Given the description of an element on the screen output the (x, y) to click on. 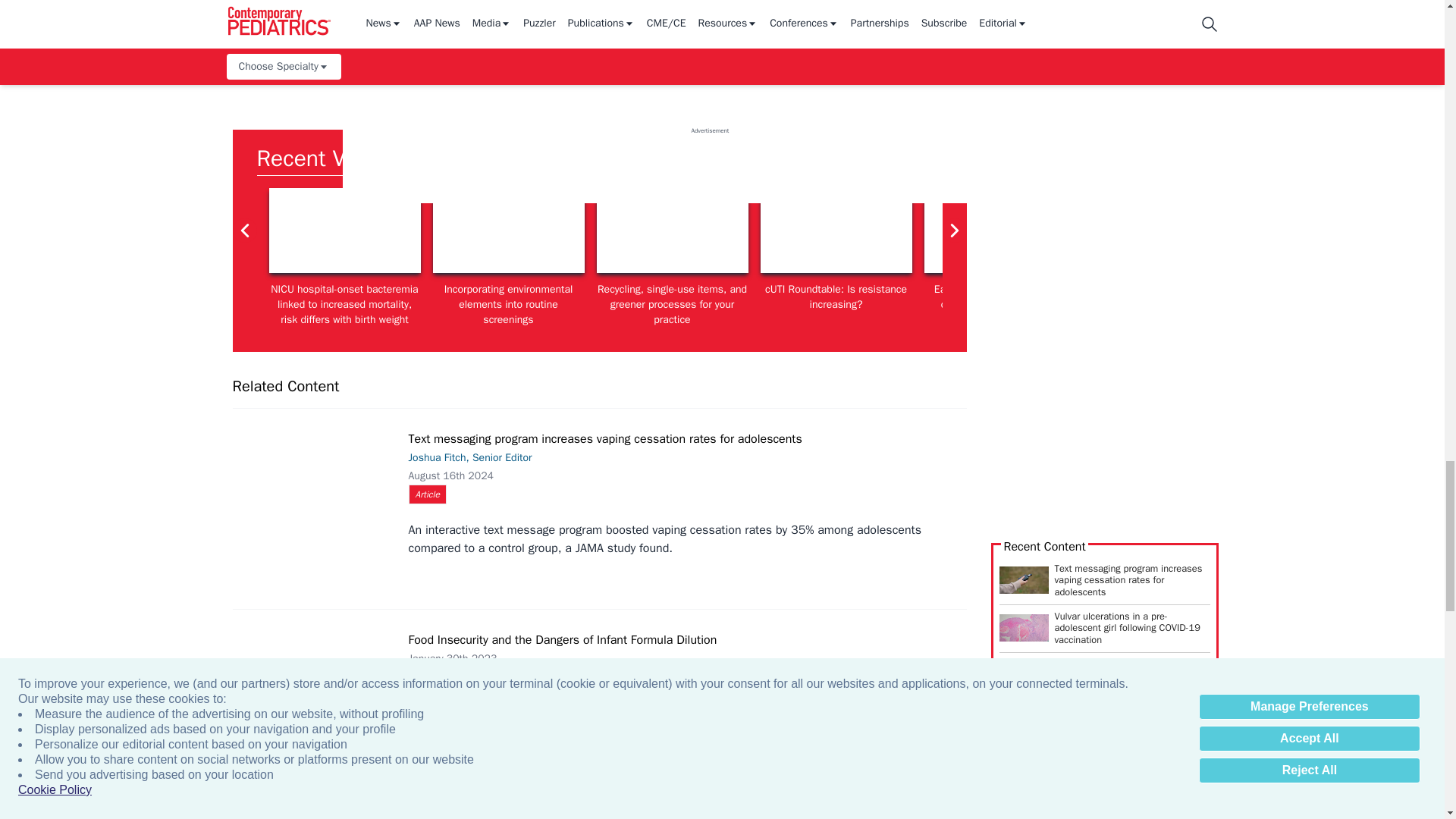
Erica Prochaska, MD (343, 230)
Shreya Doshi, MBBS, FAAP (671, 230)
Shreya Doshi MBBS, FAAP (507, 230)
cUTI Roundtable: Is resistance increasing? (835, 230)
